Given the description of an element on the screen output the (x, y) to click on. 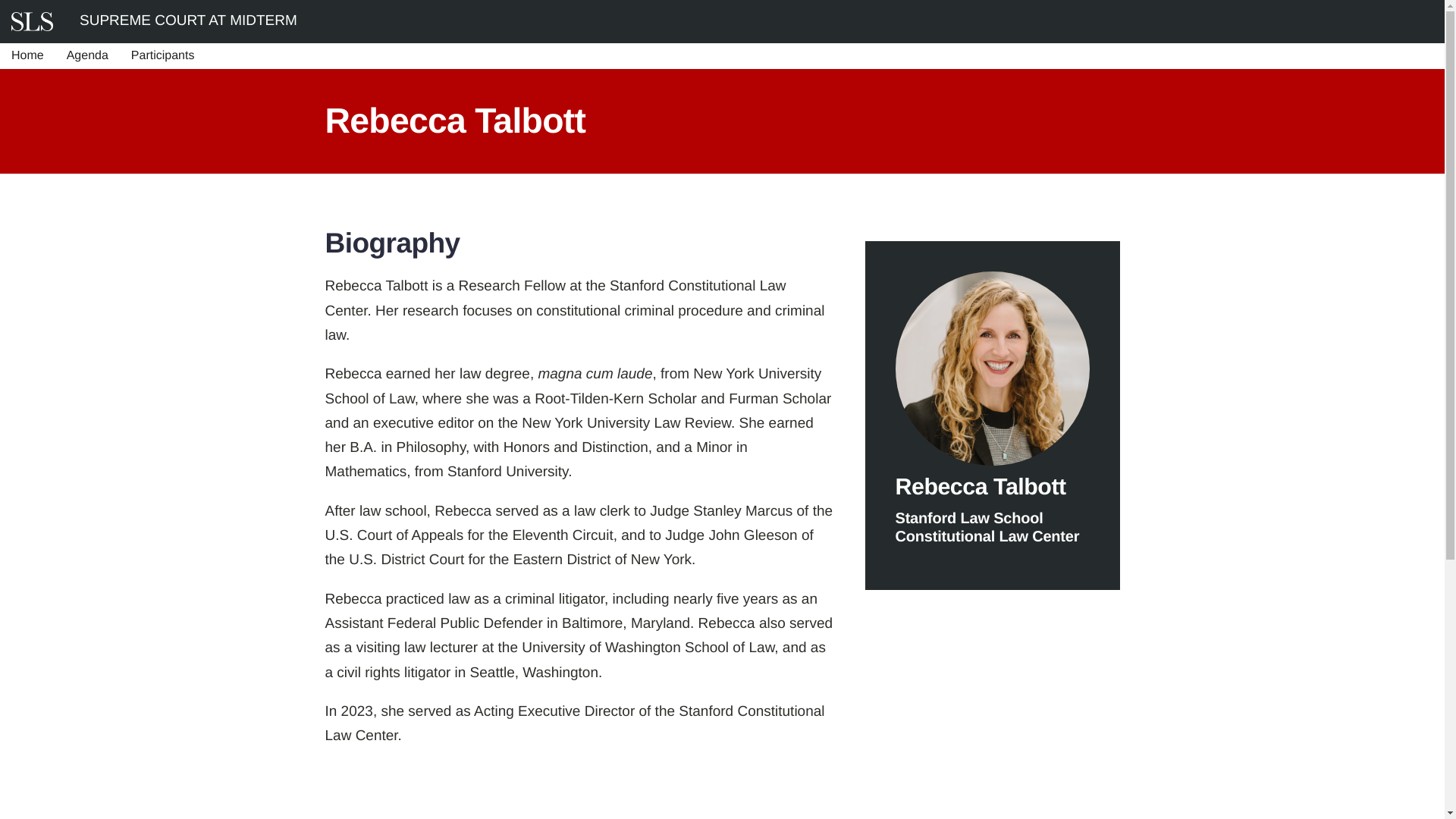
SUPREME COURT AT MIDTERM (188, 20)
Home (27, 55)
Participants (162, 55)
Agenda (87, 55)
